Given the description of an element on the screen output the (x, y) to click on. 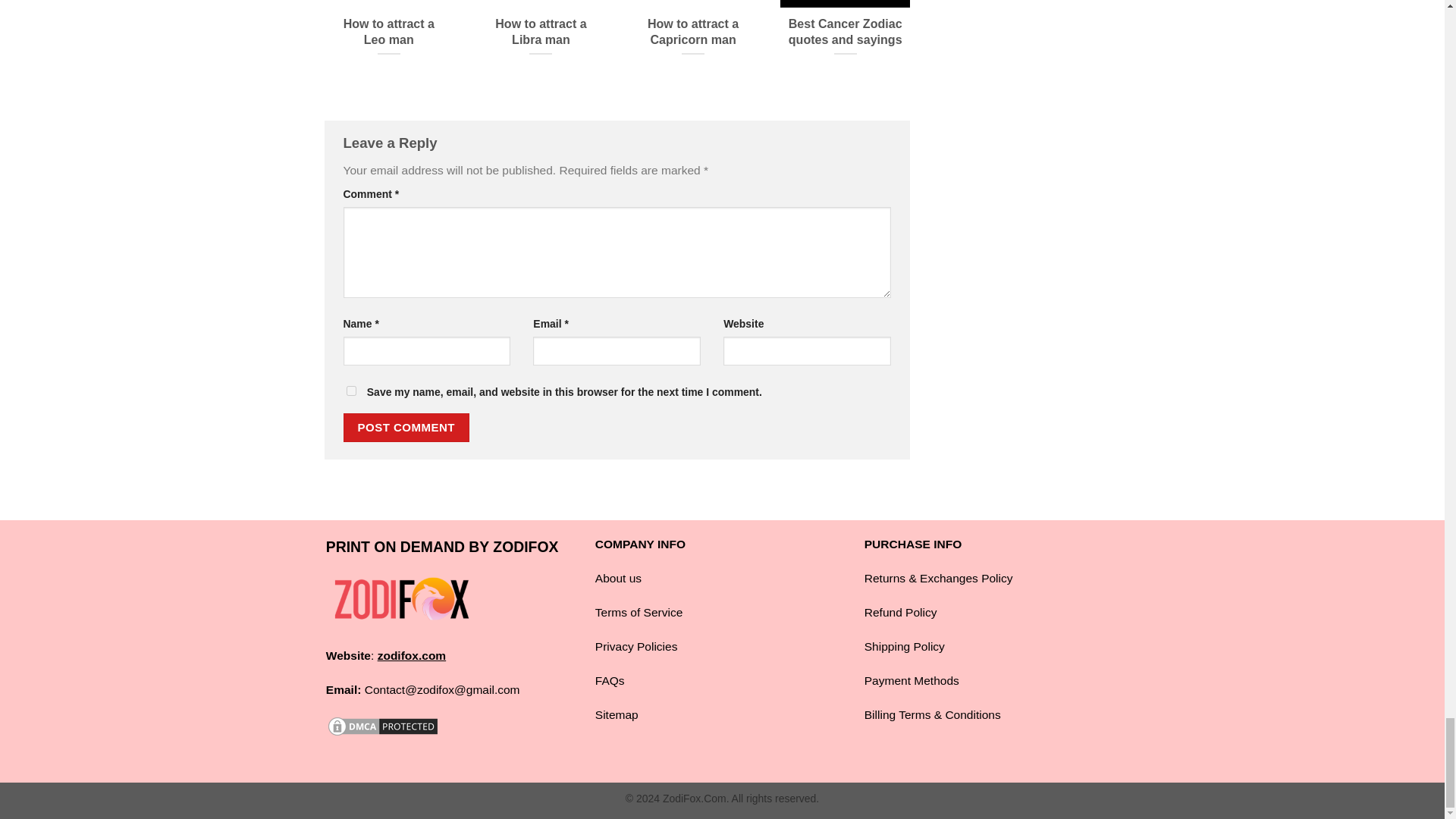
Post Comment (405, 427)
yes (350, 390)
DMCA.com Protection Status (382, 725)
